Given the description of an element on the screen output the (x, y) to click on. 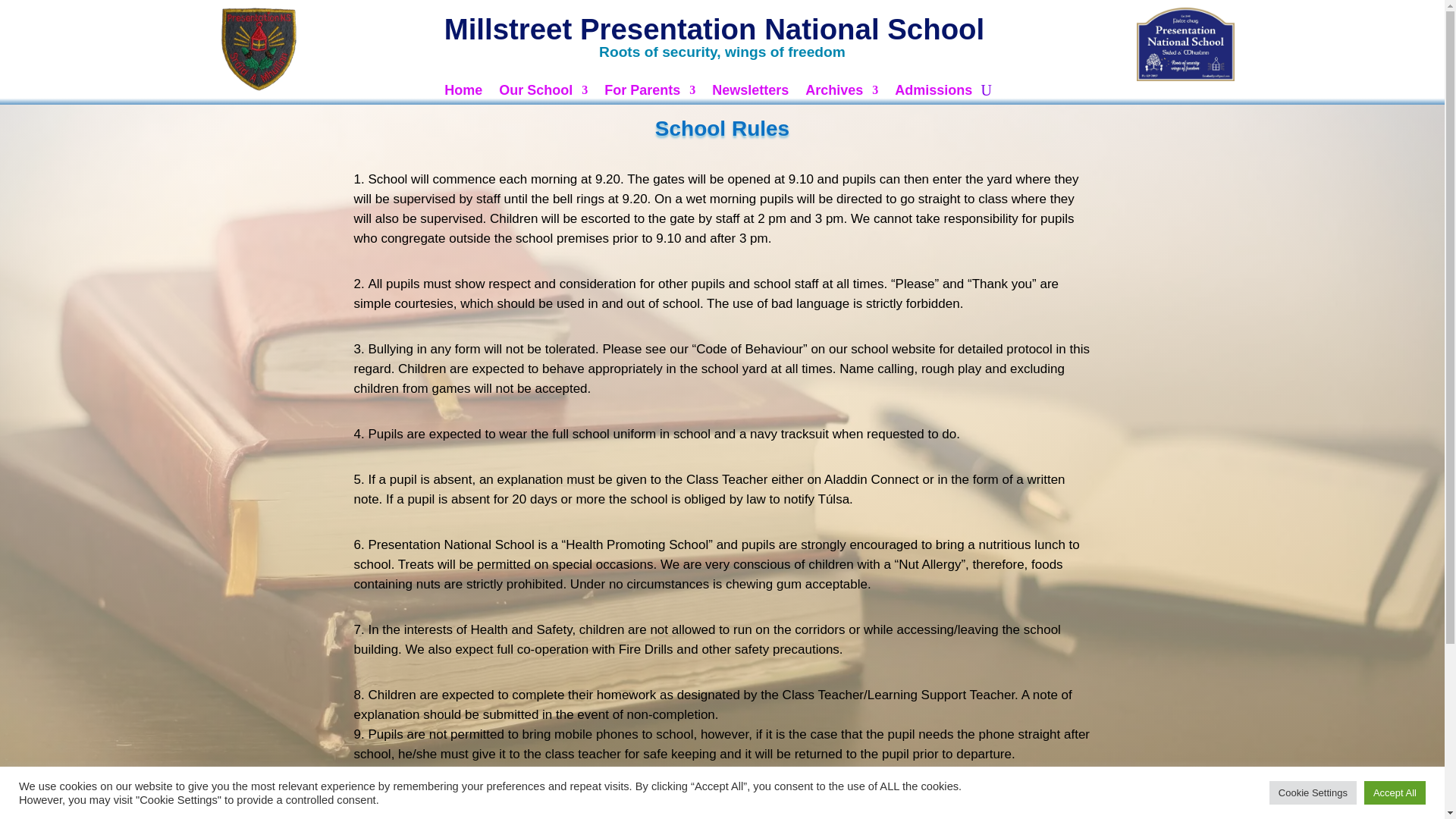
Sign HD (1185, 44)
For Parents (649, 93)
Home (462, 93)
Our School (543, 93)
